Given the description of an element on the screen output the (x, y) to click on. 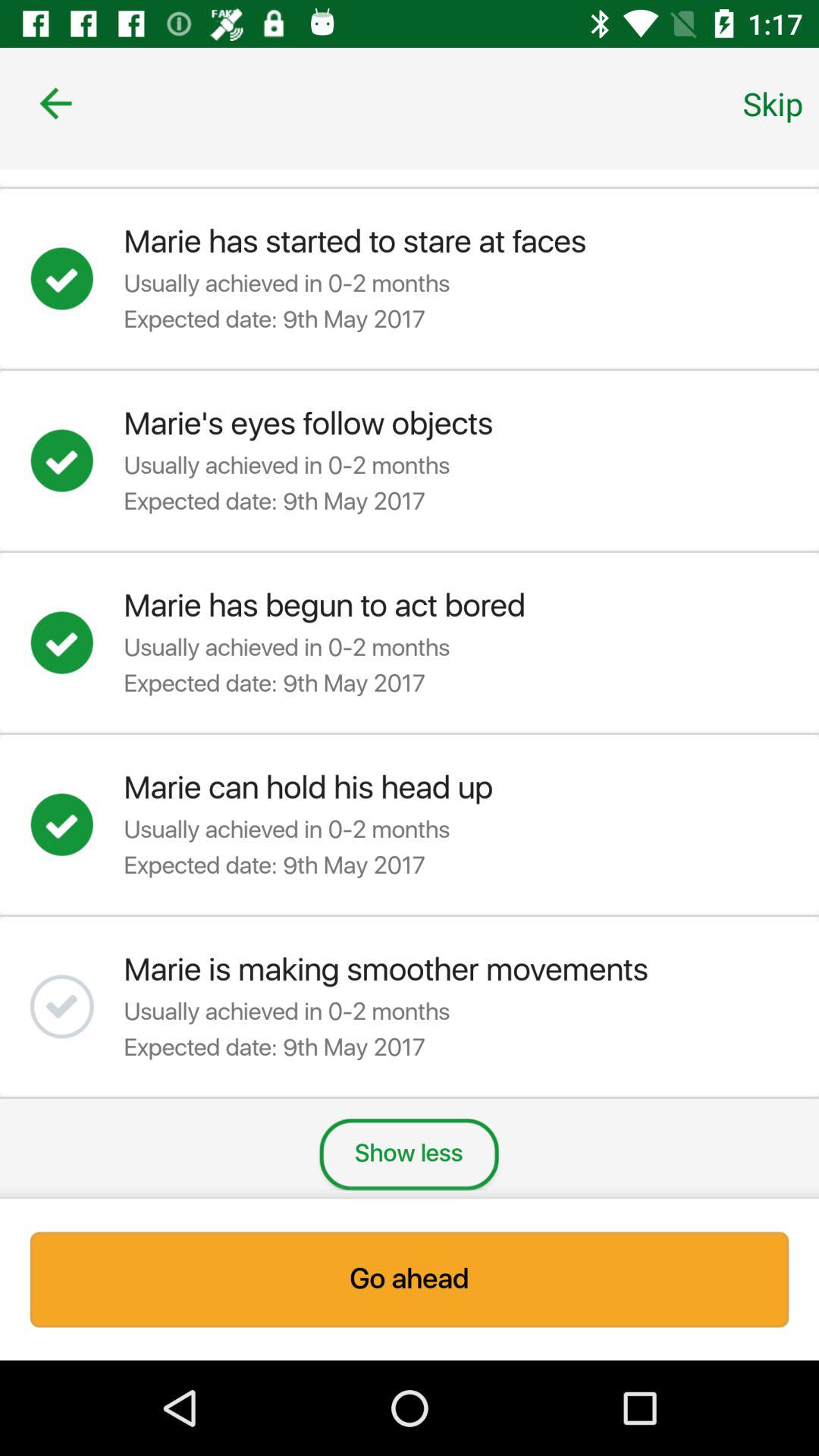
click icon at the top right corner (772, 103)
